Given the description of an element on the screen output the (x, y) to click on. 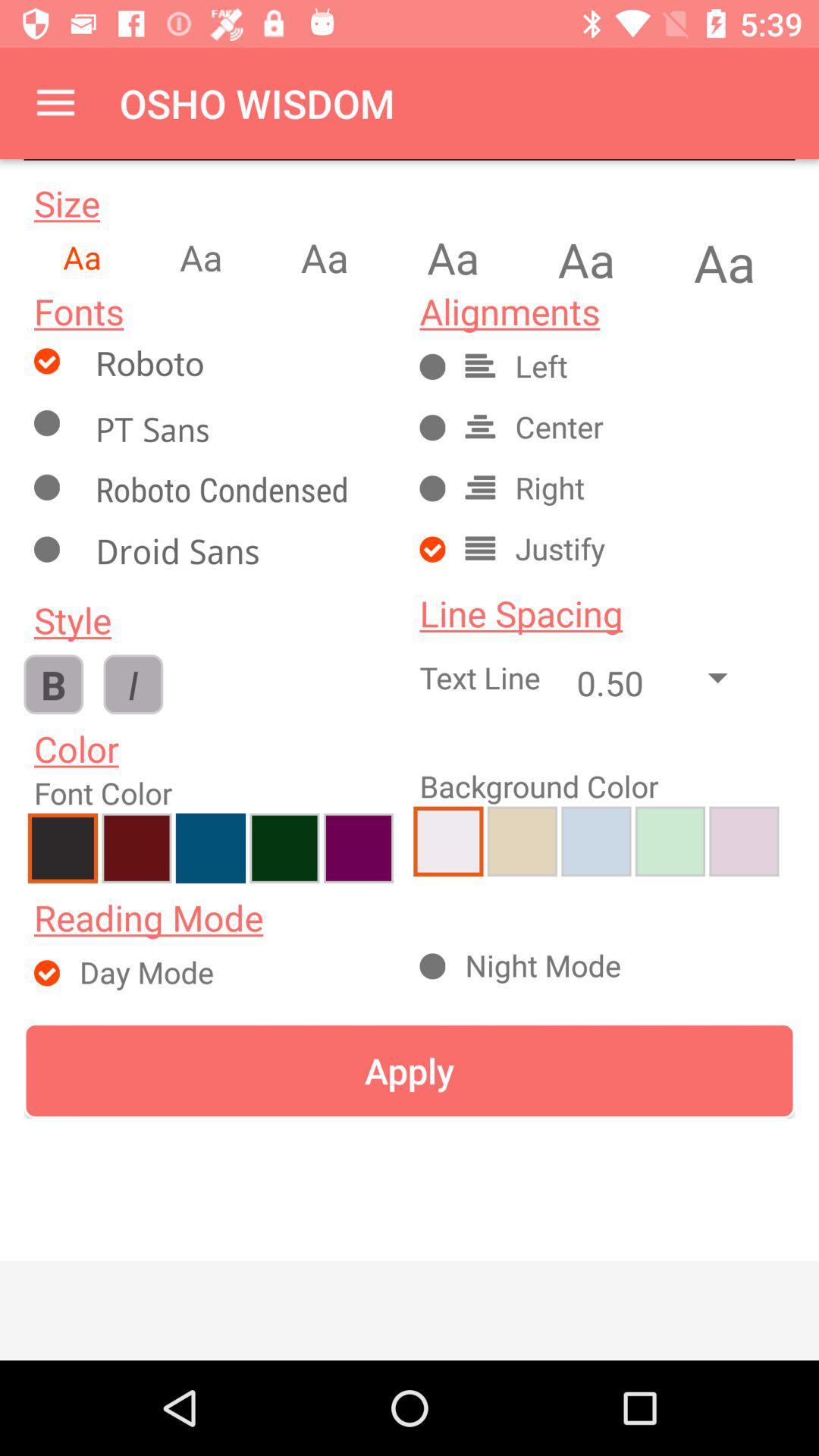
choose this color (522, 841)
